Given the description of an element on the screen output the (x, y) to click on. 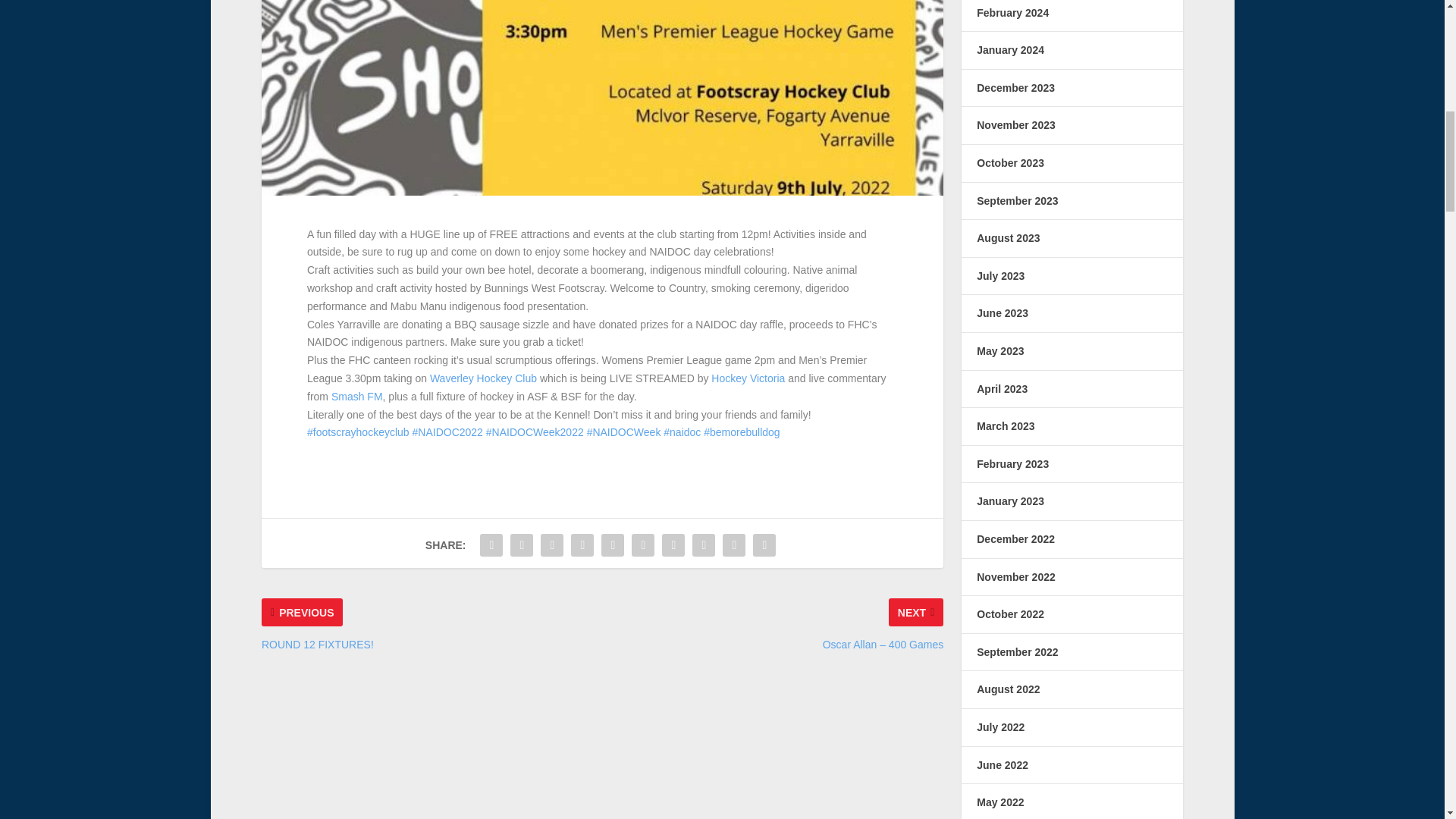
Share "NAIDOC DAY TOMORROW 9th JULY!" via LinkedIn (642, 544)
Share "NAIDOC DAY TOMORROW 9th JULY!" via Stumbleupon (703, 544)
Share "NAIDOC DAY TOMORROW 9th JULY!" via Print (763, 544)
Share "NAIDOC DAY TOMORROW 9th JULY!" via Twitter (521, 544)
Share "NAIDOC DAY TOMORROW 9th JULY!" via Facebook (491, 544)
Share "NAIDOC DAY TOMORROW 9th JULY!" via Buffer (673, 544)
Share "NAIDOC DAY TOMORROW 9th JULY!" via Email (734, 544)
Share "NAIDOC DAY TOMORROW 9th JULY!" via Pinterest (611, 544)
Share "NAIDOC DAY TOMORROW 9th JULY!" via Tumblr (581, 544)
